Given the description of an element on the screen output the (x, y) to click on. 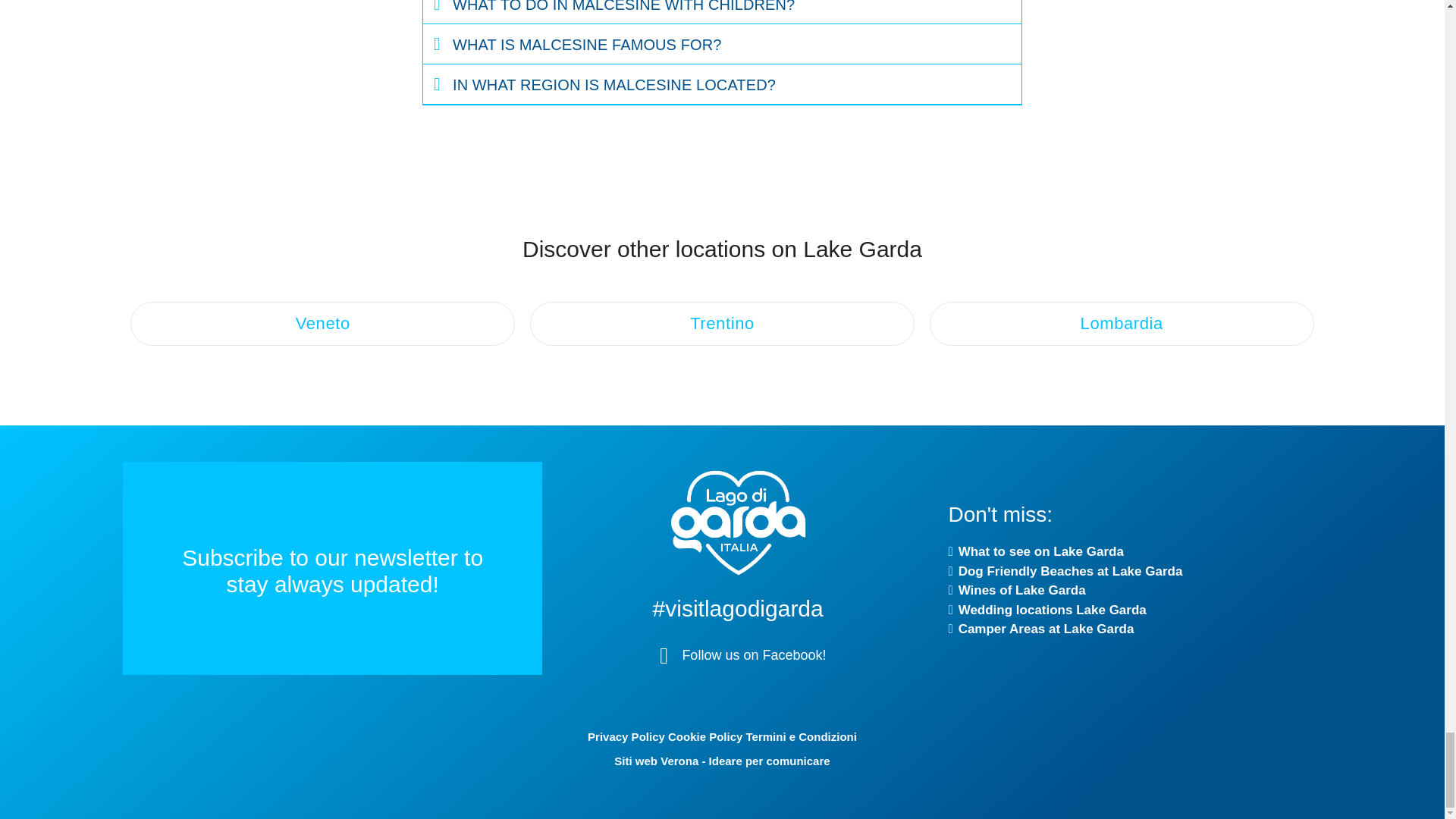
Privacy Policy  (626, 736)
Cookie Policy  (705, 736)
Termini e Condizioni  (801, 736)
